Given the description of an element on the screen output the (x, y) to click on. 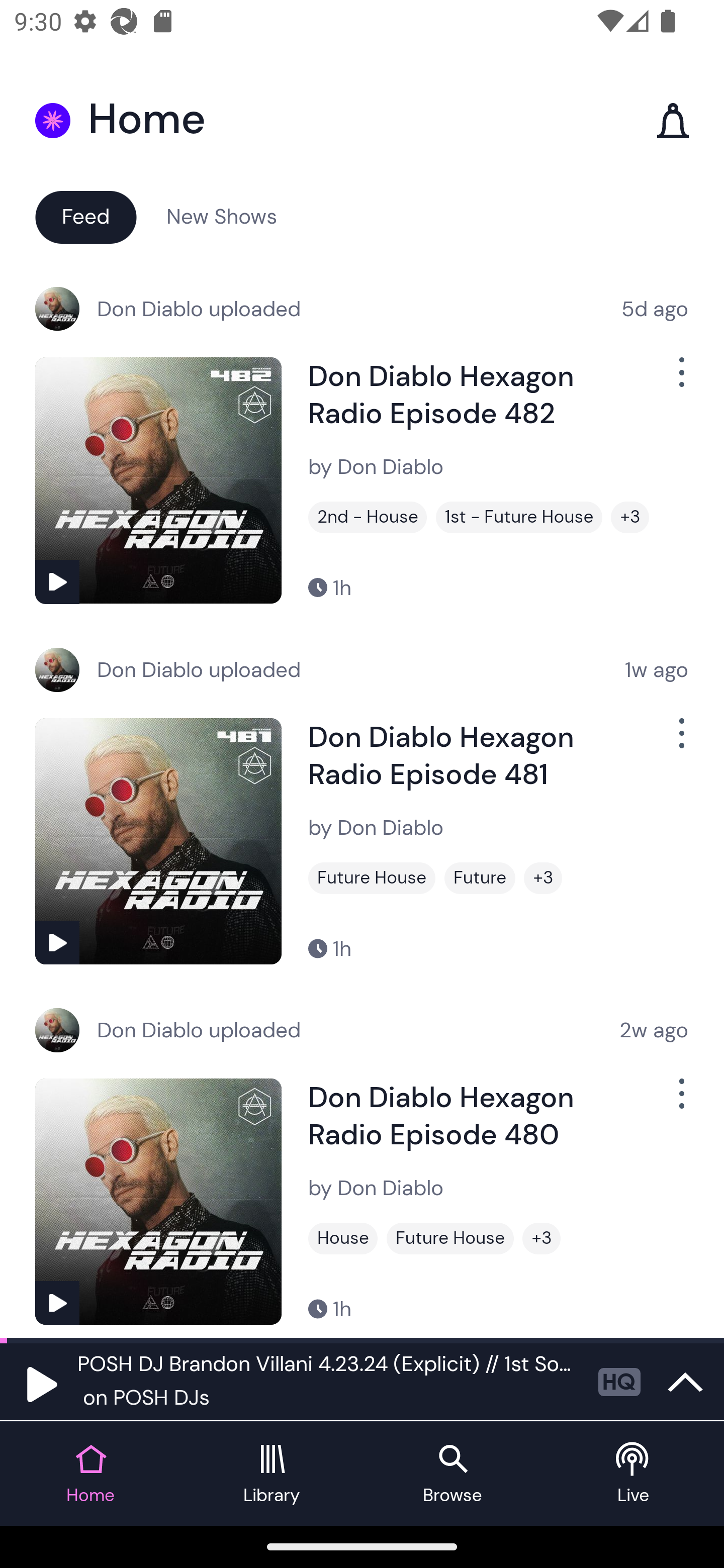
Feed (85, 216)
New Shows (221, 216)
Show Options Menu Button (679, 379)
2nd - House (367, 517)
1st - Future House (518, 517)
Show Options Menu Button (679, 740)
Future House (371, 877)
Future (479, 877)
Show Options Menu Button (679, 1101)
House (342, 1238)
Future House (450, 1238)
Home tab Home (90, 1473)
Library tab Library (271, 1473)
Browse tab Browse (452, 1473)
Live tab Live (633, 1473)
